Given the description of an element on the screen output the (x, y) to click on. 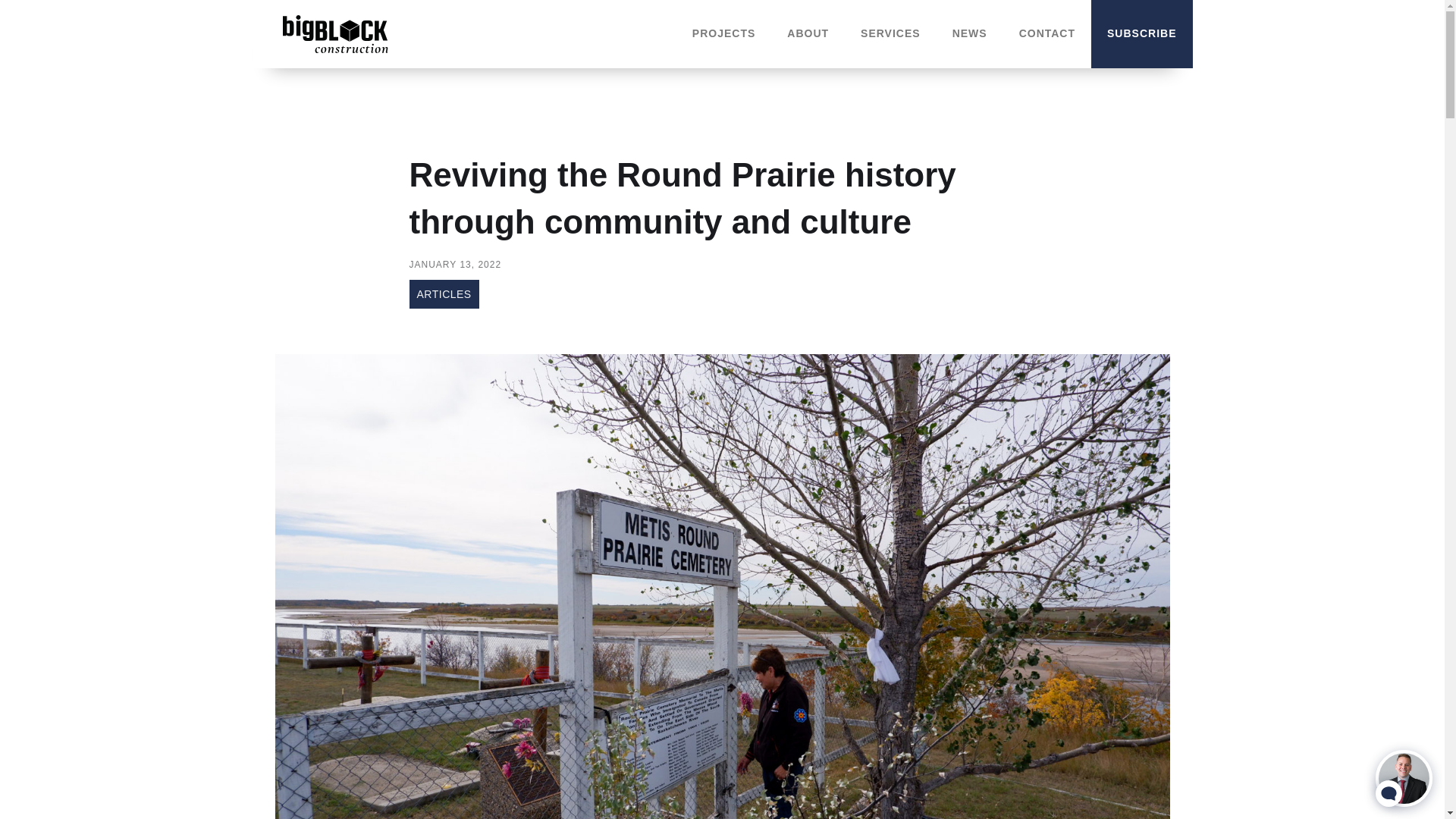
NEWS Element type: text (969, 34)
PROJECTS Element type: text (723, 34)
SERVICES Element type: text (890, 34)
CONTACT Element type: text (1047, 34)
SUBSCRIBE Element type: text (1141, 34)
ABOUT Element type: text (807, 34)
ARTICLES Element type: text (444, 293)
